Given the description of an element on the screen output the (x, y) to click on. 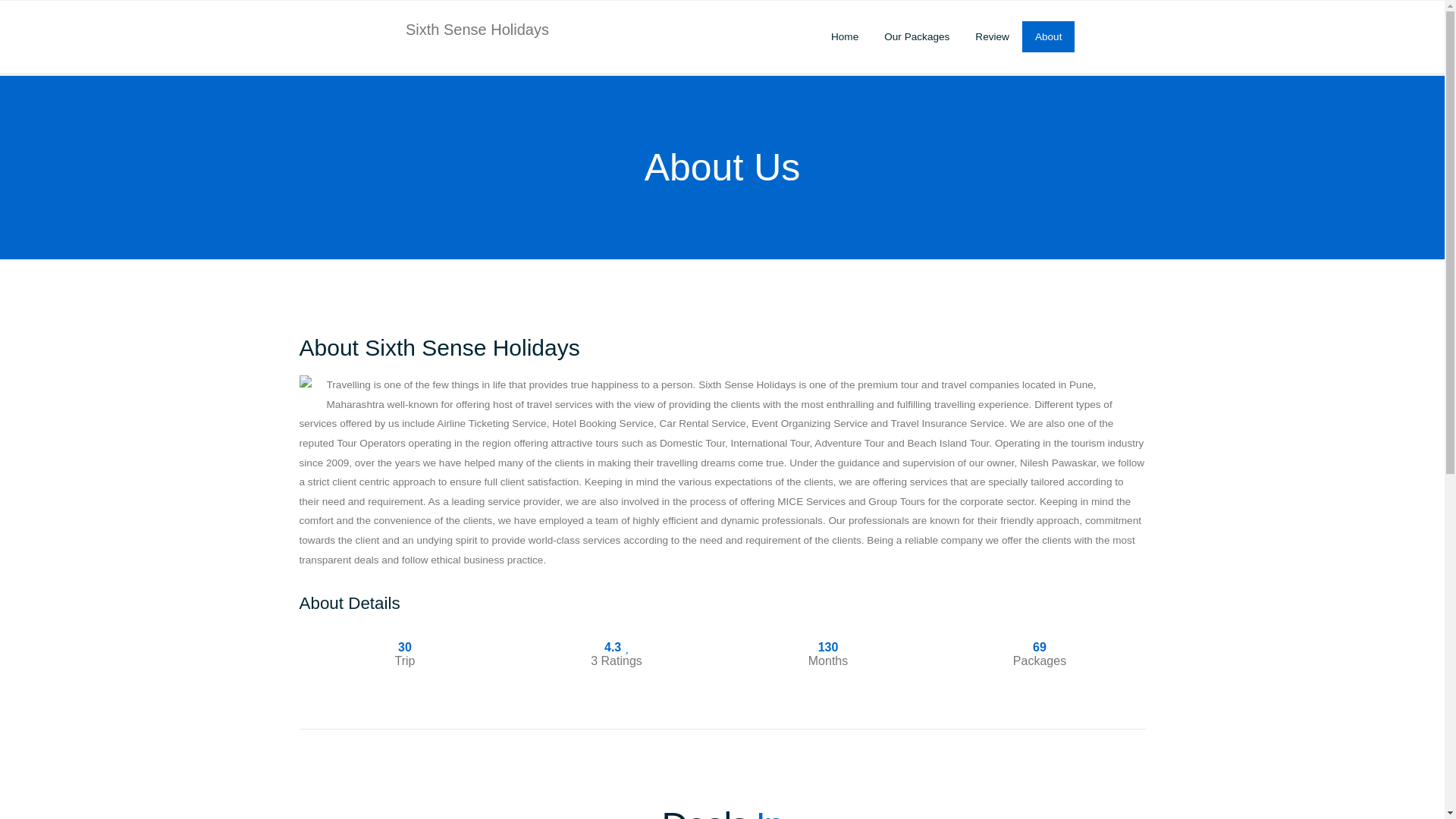
Review (992, 36)
Home (844, 36)
About (1048, 36)
Our Packages (916, 36)
